Given the description of an element on the screen output the (x, y) to click on. 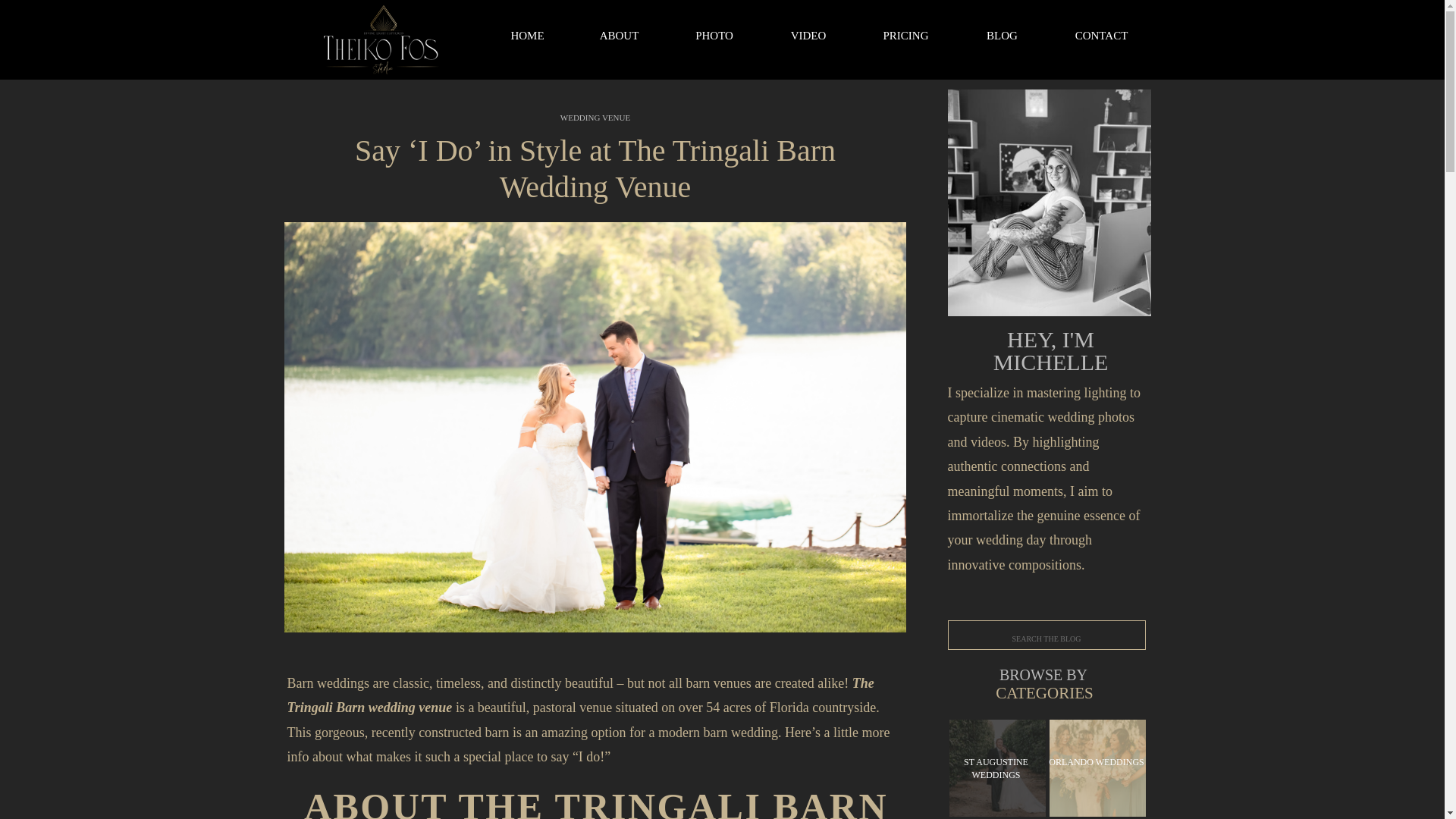
PHOTO (714, 39)
VIDEO (808, 39)
HOME (527, 39)
ORLANDO WEDDINGS (1096, 769)
WEDDING VENUE (595, 117)
BLOG (1002, 39)
ABOUT (619, 39)
ST AUGUSTINE WEDDINGS (995, 770)
PRICING (905, 39)
CONTACT (1100, 39)
